Given the description of an element on the screen output the (x, y) to click on. 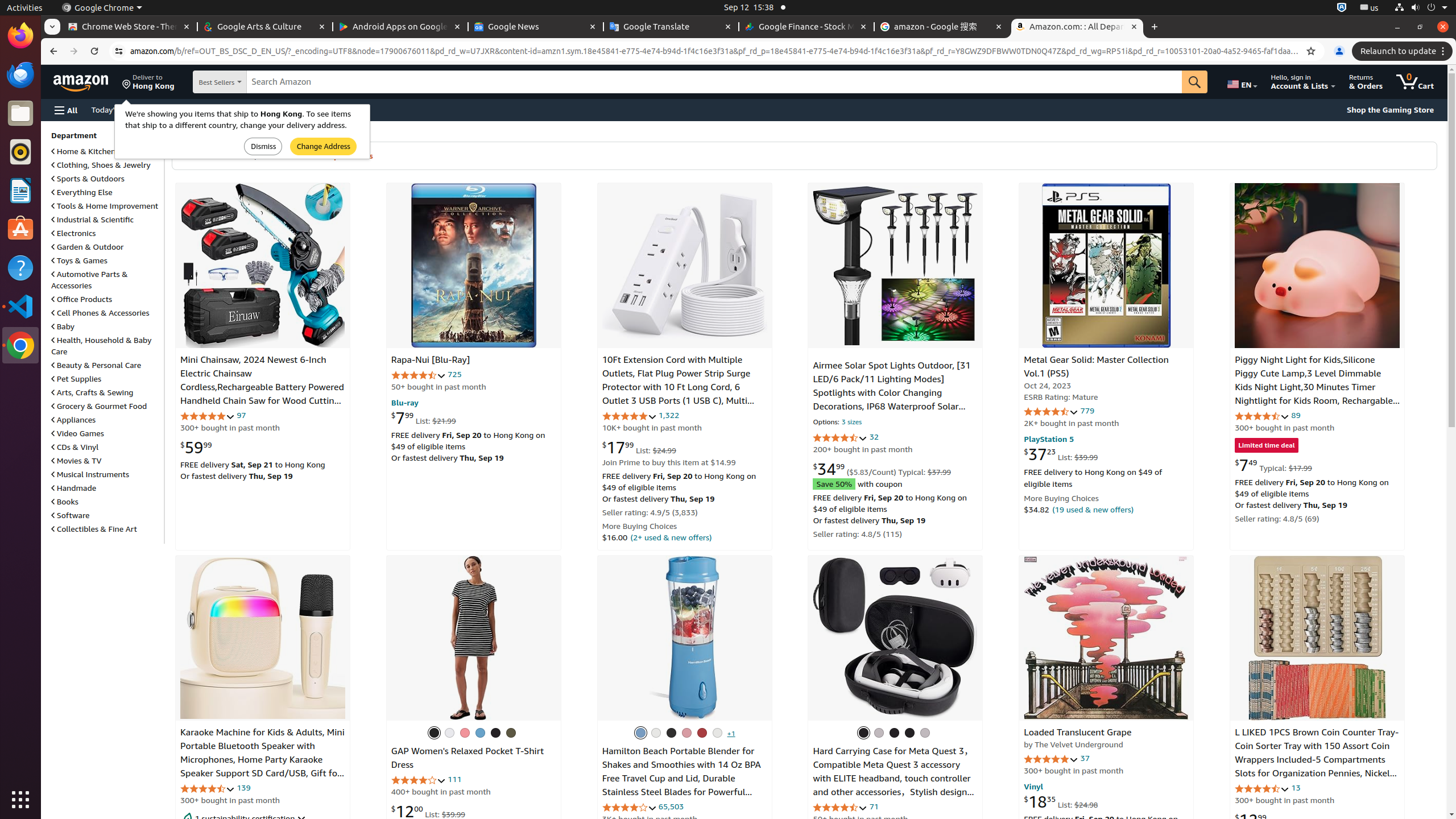
Handmade Element type: link (73, 487)
:1.21/StatusNotifierItem Element type: menu (1369, 7)
0 items in cart Element type: link (1414, 81)
Soft Cornflower 452 Element type: push-button (479, 732)
Google News - Memory usage - 49.2 MB Element type: page-tab (535, 26)
